Given the description of an element on the screen output the (x, y) to click on. 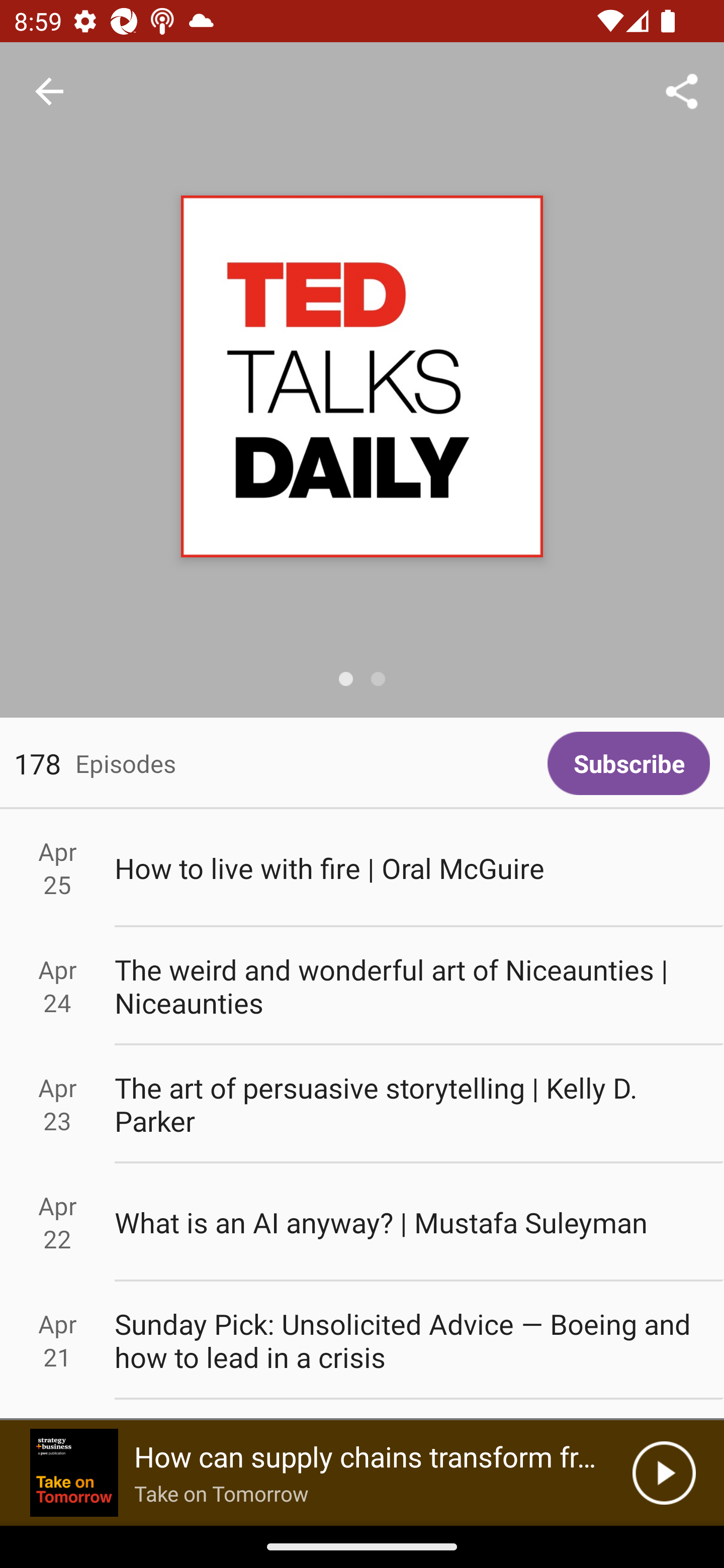
Navigate up (49, 91)
Share... (681, 90)
Subscribe (628, 763)
Apr 25 How to live with fire | Oral McGuire (362, 867)
Apr 22 What is an AI anyway? | Mustafa Suleyman (362, 1222)
Play (663, 1472)
